Given the description of an element on the screen output the (x, y) to click on. 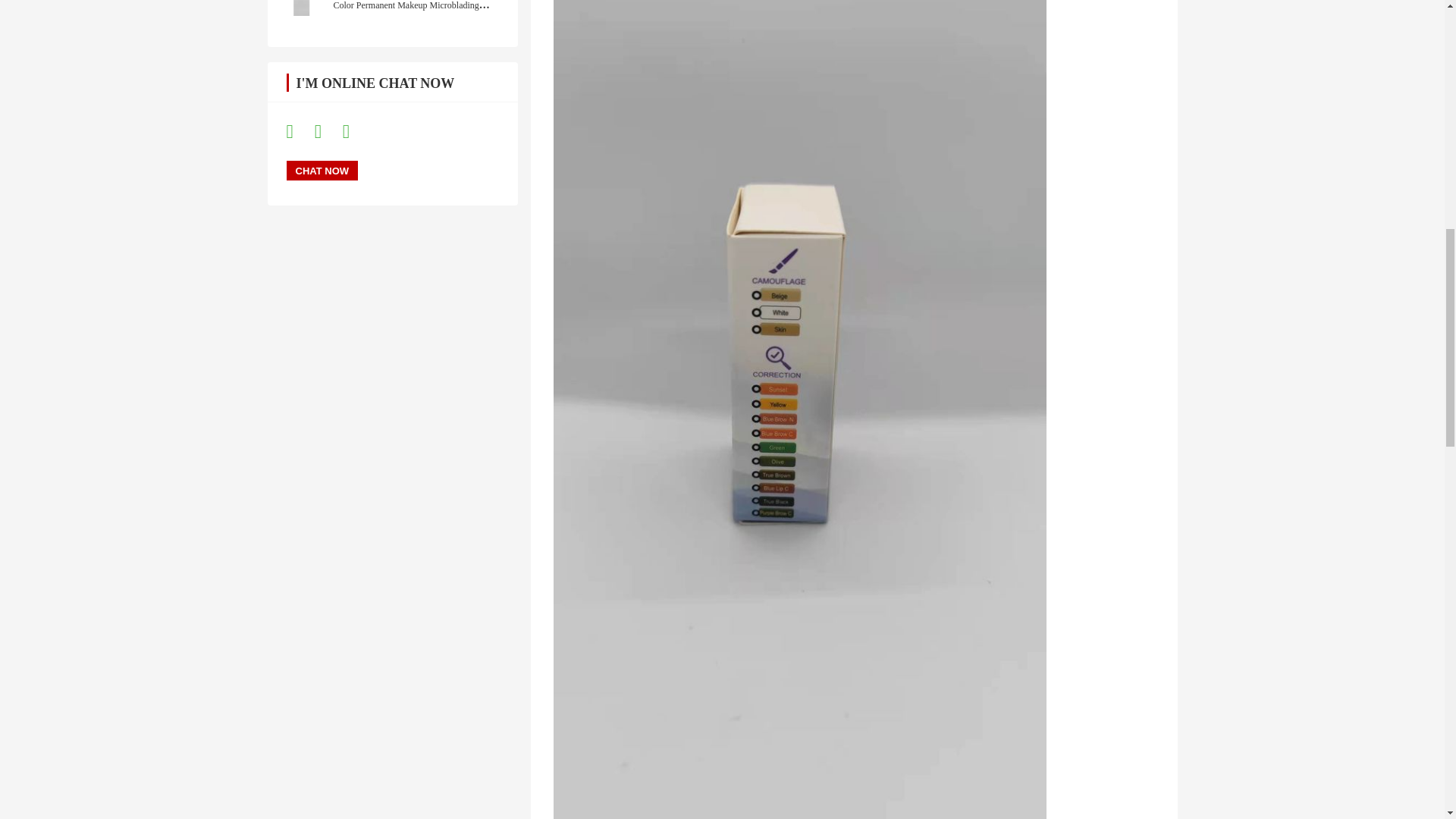
Chat Now (322, 170)
